Given the description of an element on the screen output the (x, y) to click on. 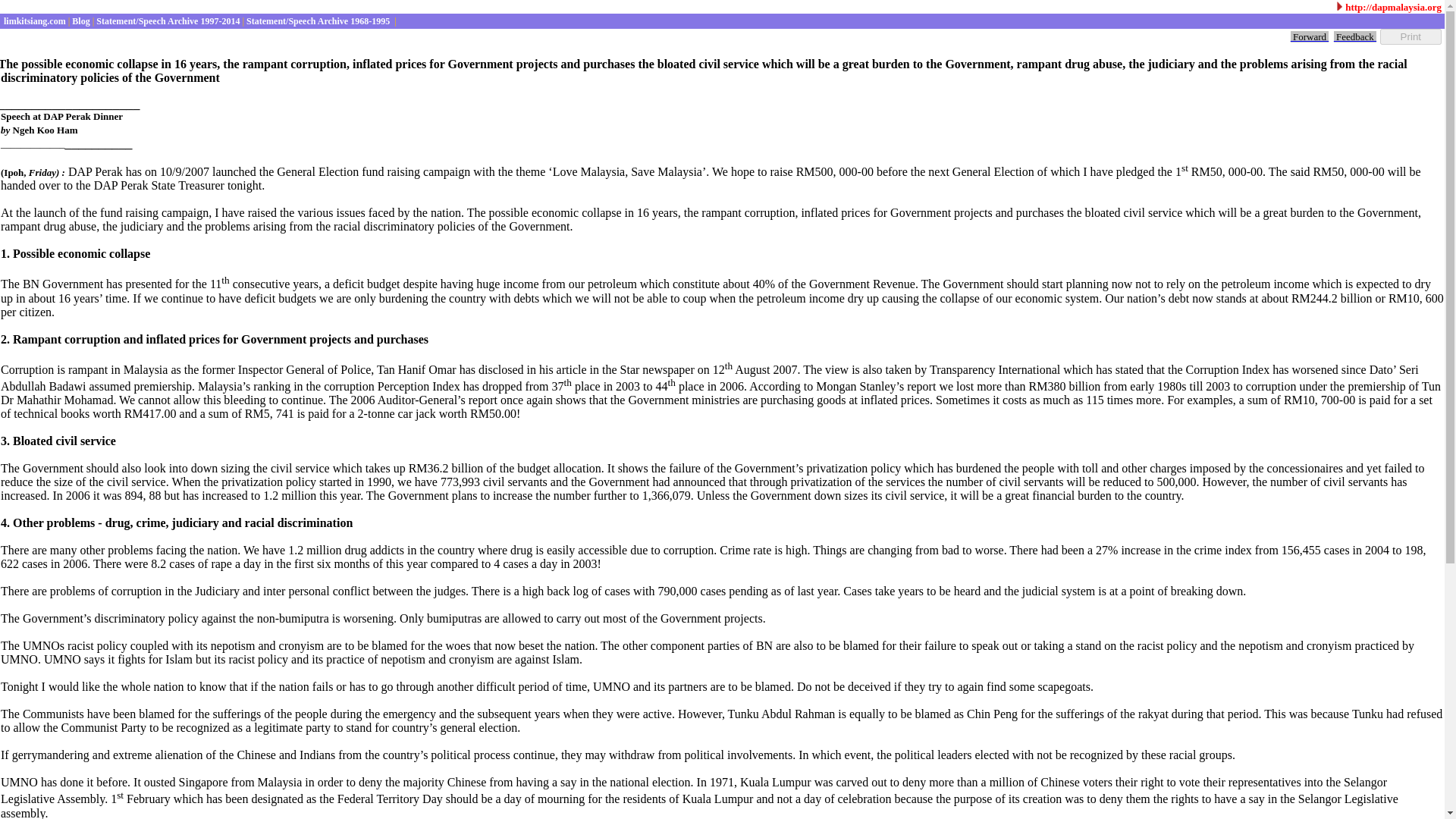
     Print      (1410, 36)
 limkitsiang.com (33, 20)
Forward (1309, 36)
 Blog (78, 20)
 Feedback (1354, 36)
